Given the description of an element on the screen output the (x, y) to click on. 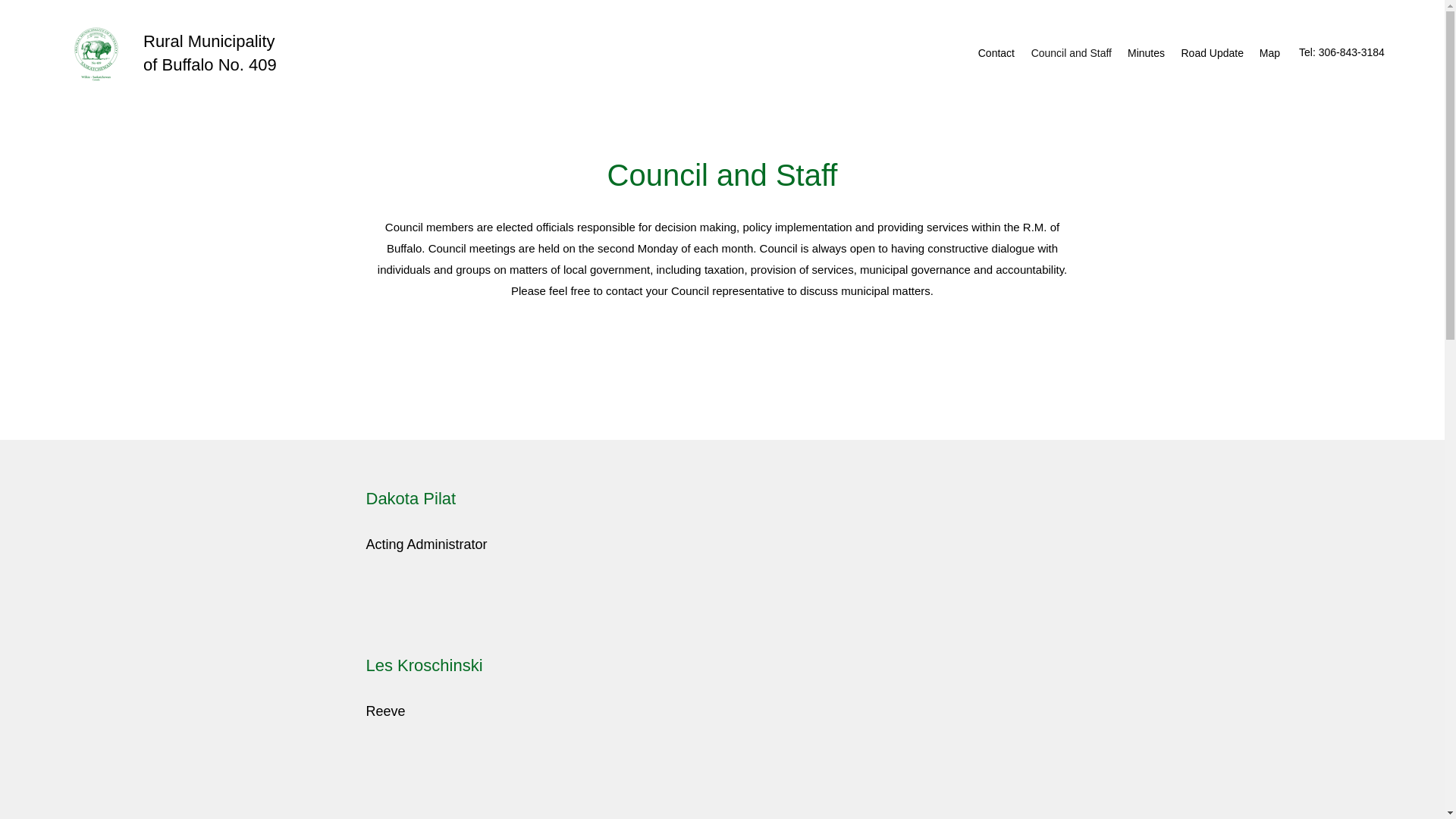
Contact (995, 52)
Minutes (1145, 52)
of (151, 64)
Road Update (1211, 52)
No. 409 (247, 64)
Rural Municipality (208, 40)
Map (1268, 52)
Council and Staff (1070, 52)
Buffalo  (188, 64)
